Given the description of an element on the screen output the (x, y) to click on. 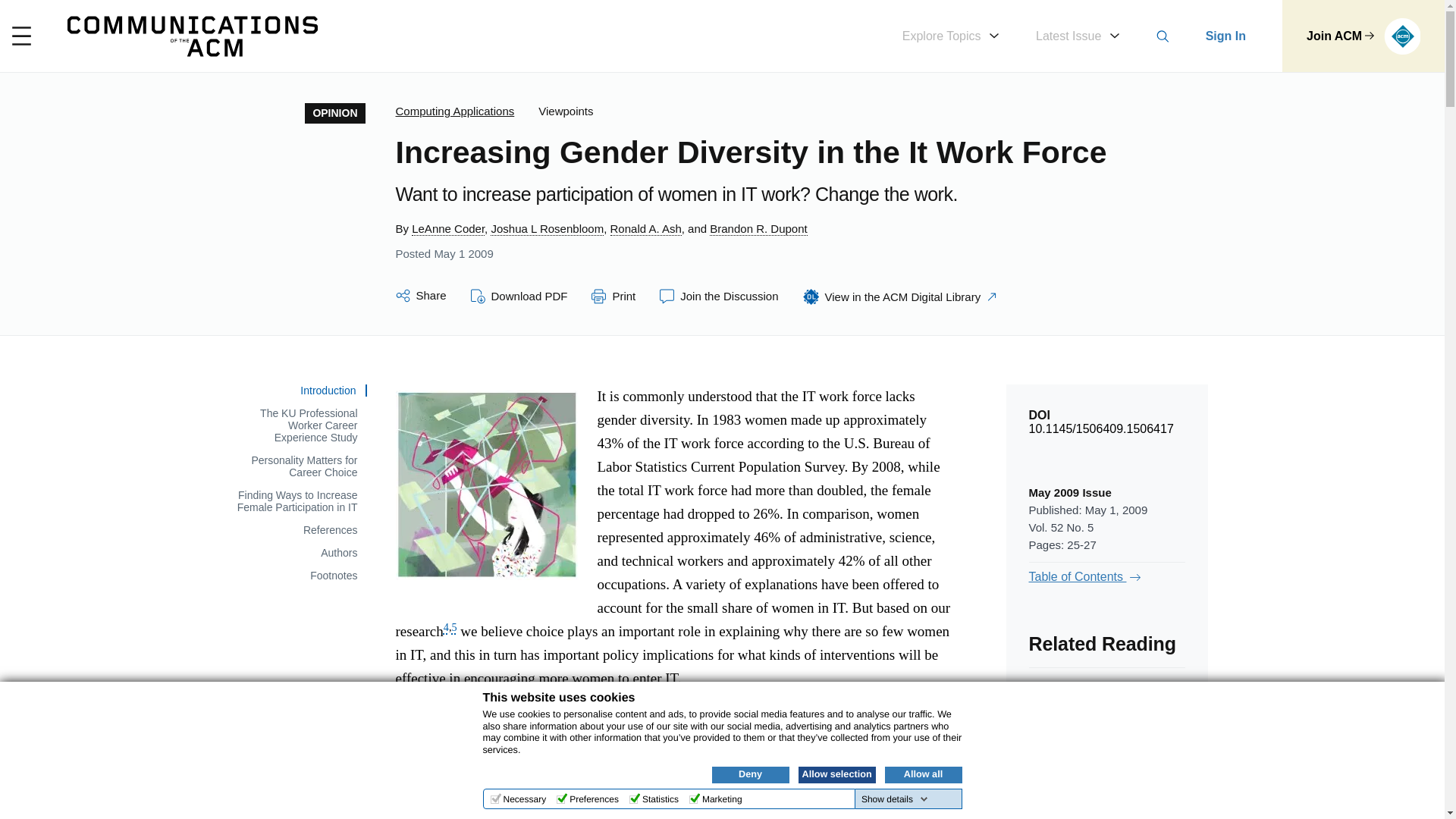
Allow selection (836, 774)
Deny (750, 774)
Show details (895, 799)
Allow all (921, 774)
